Given the description of an element on the screen output the (x, y) to click on. 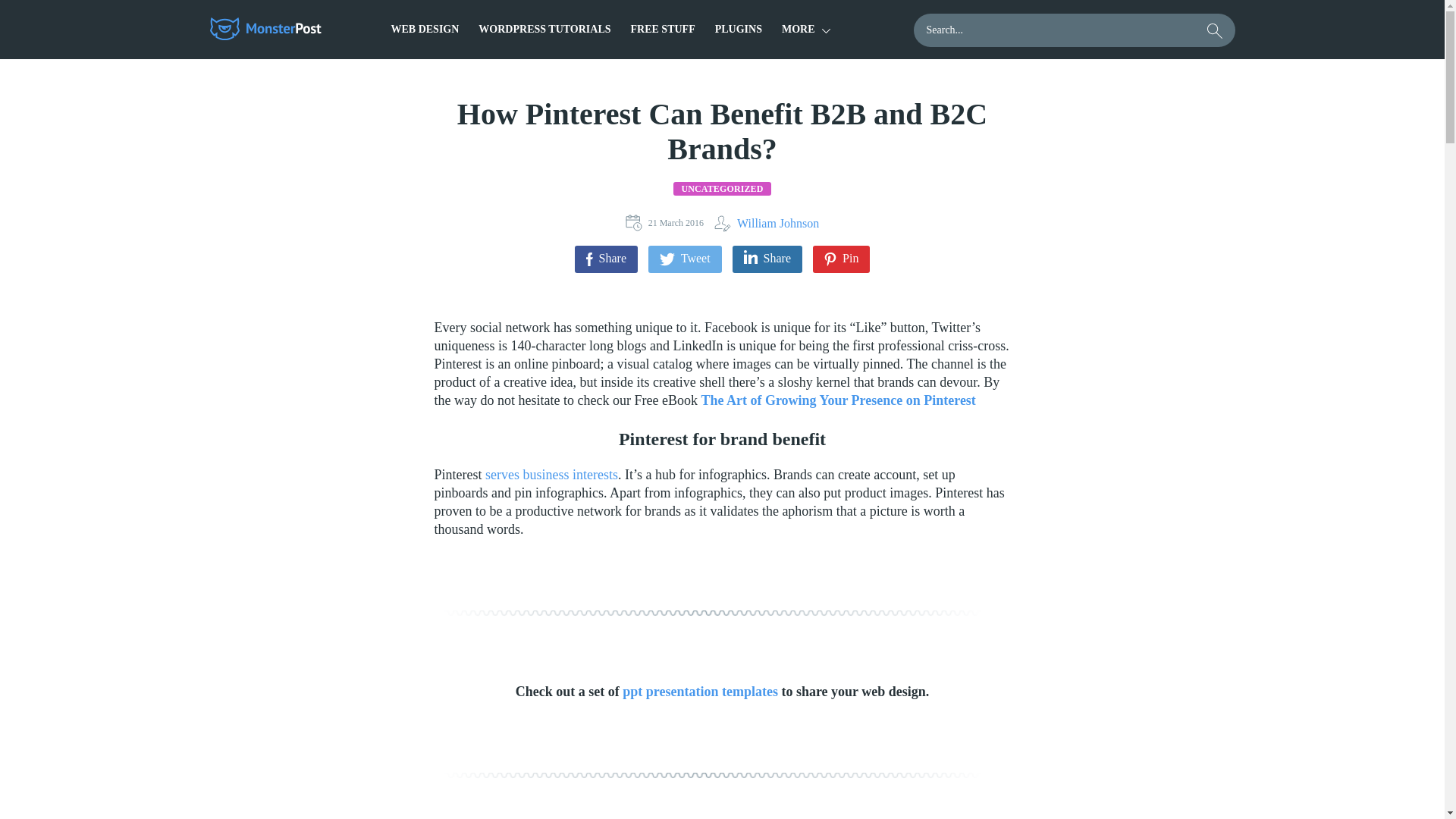
Tweet (684, 258)
serves business interests (550, 474)
WORDPRESS TUTORIALS (544, 29)
FREE STUFF (662, 29)
The Art of Growing Your Presence on Pinterest (837, 400)
PLUGINS (737, 29)
William Johnson (766, 223)
Share (767, 258)
Pin (840, 258)
Share (606, 258)
UNCATEGORIZED (721, 188)
ppt presentation templates (700, 691)
WEB DESIGN (425, 29)
